Given the description of an element on the screen output the (x, y) to click on. 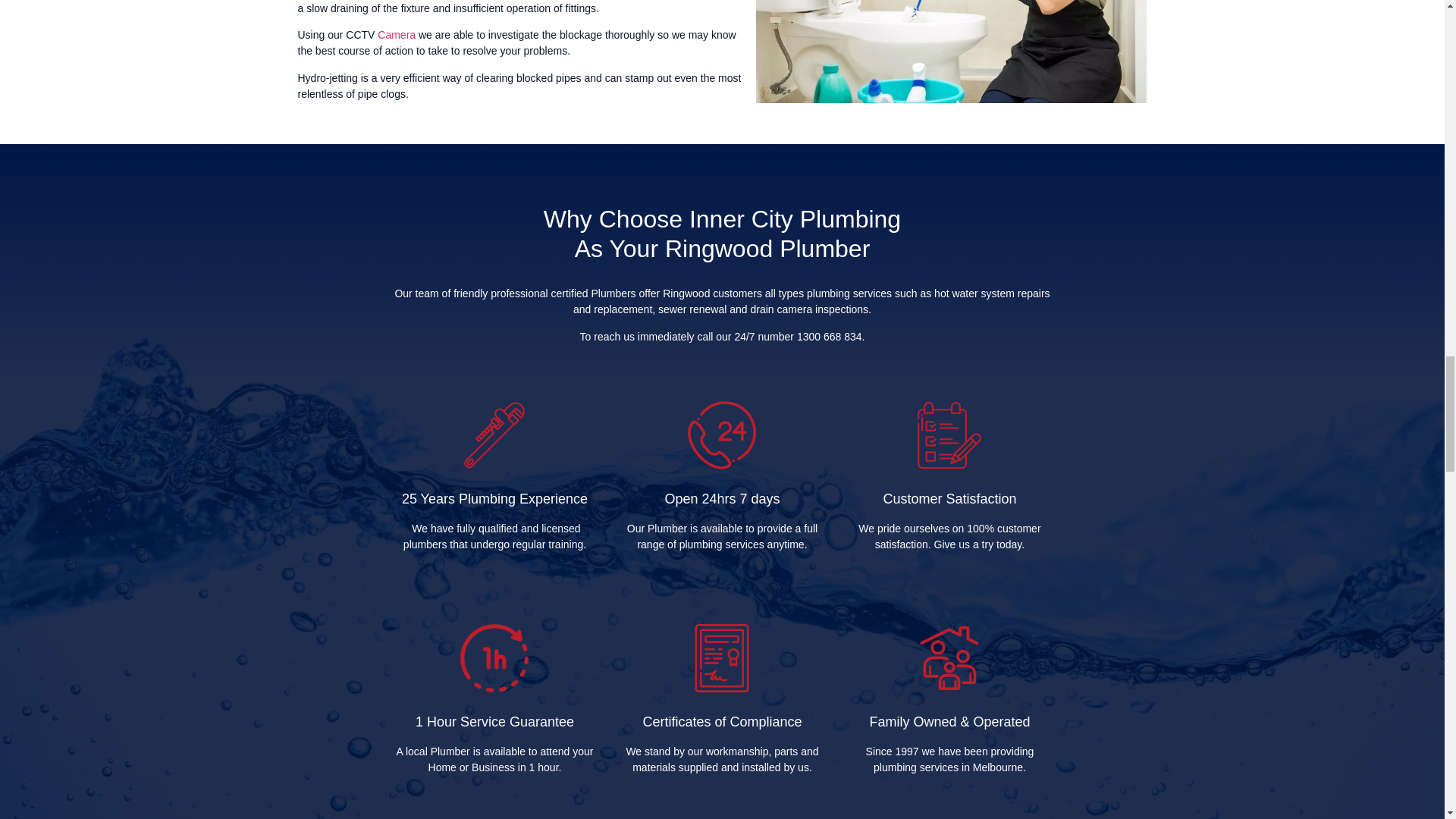
1-hour-service.png (494, 658)
customer-satisfaction.png (949, 435)
open-247.png (721, 435)
plumbers-wrench.png (494, 435)
certificate-compliance.png (721, 658)
family-owned-operated.png (949, 658)
